Given the description of an element on the screen output the (x, y) to click on. 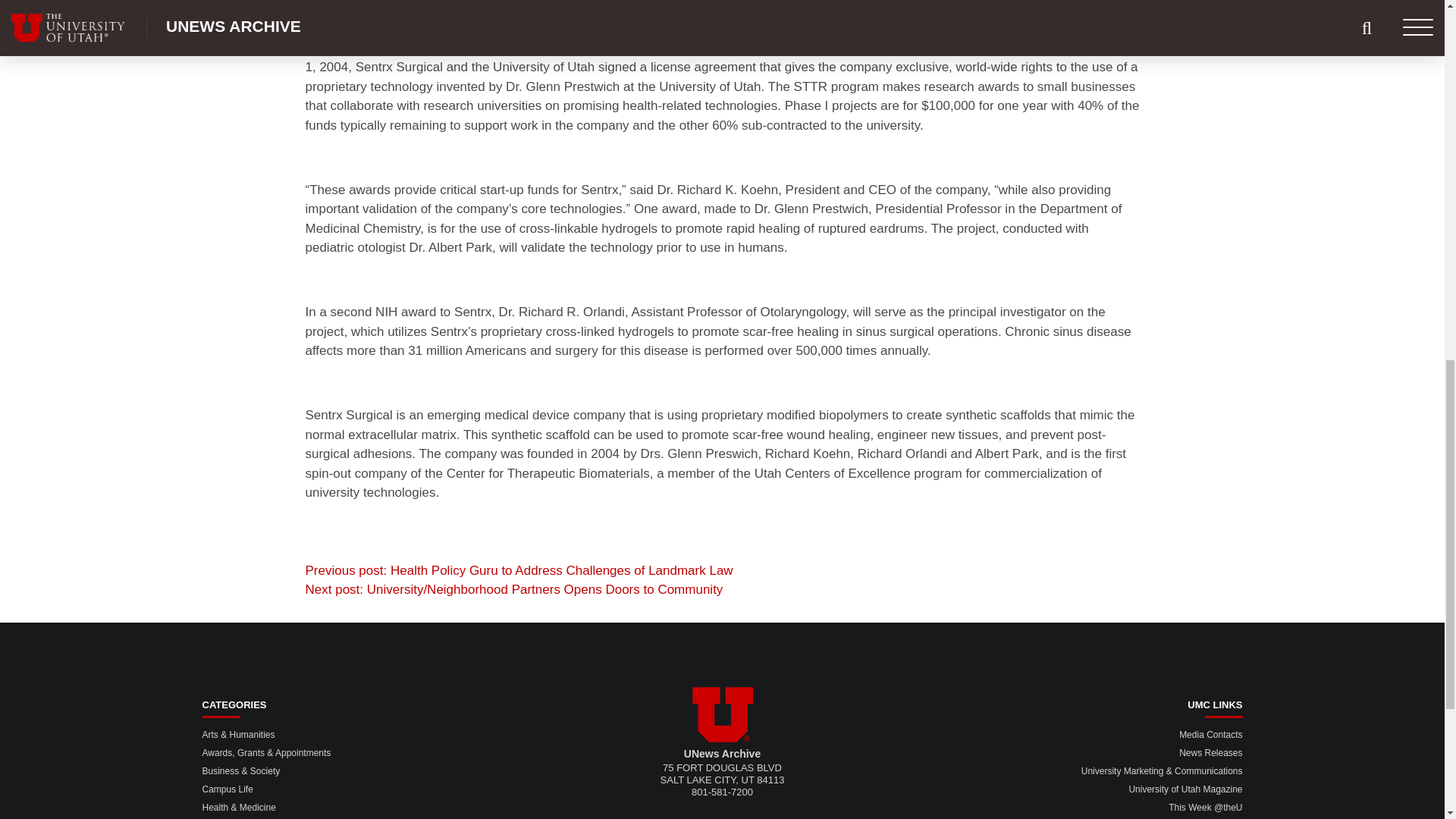
University of Utah (721, 714)
Campus Life (226, 788)
University of Utah Magazine (1184, 788)
Media Contacts (1210, 734)
News Releases (1210, 752)
